Given the description of an element on the screen output the (x, y) to click on. 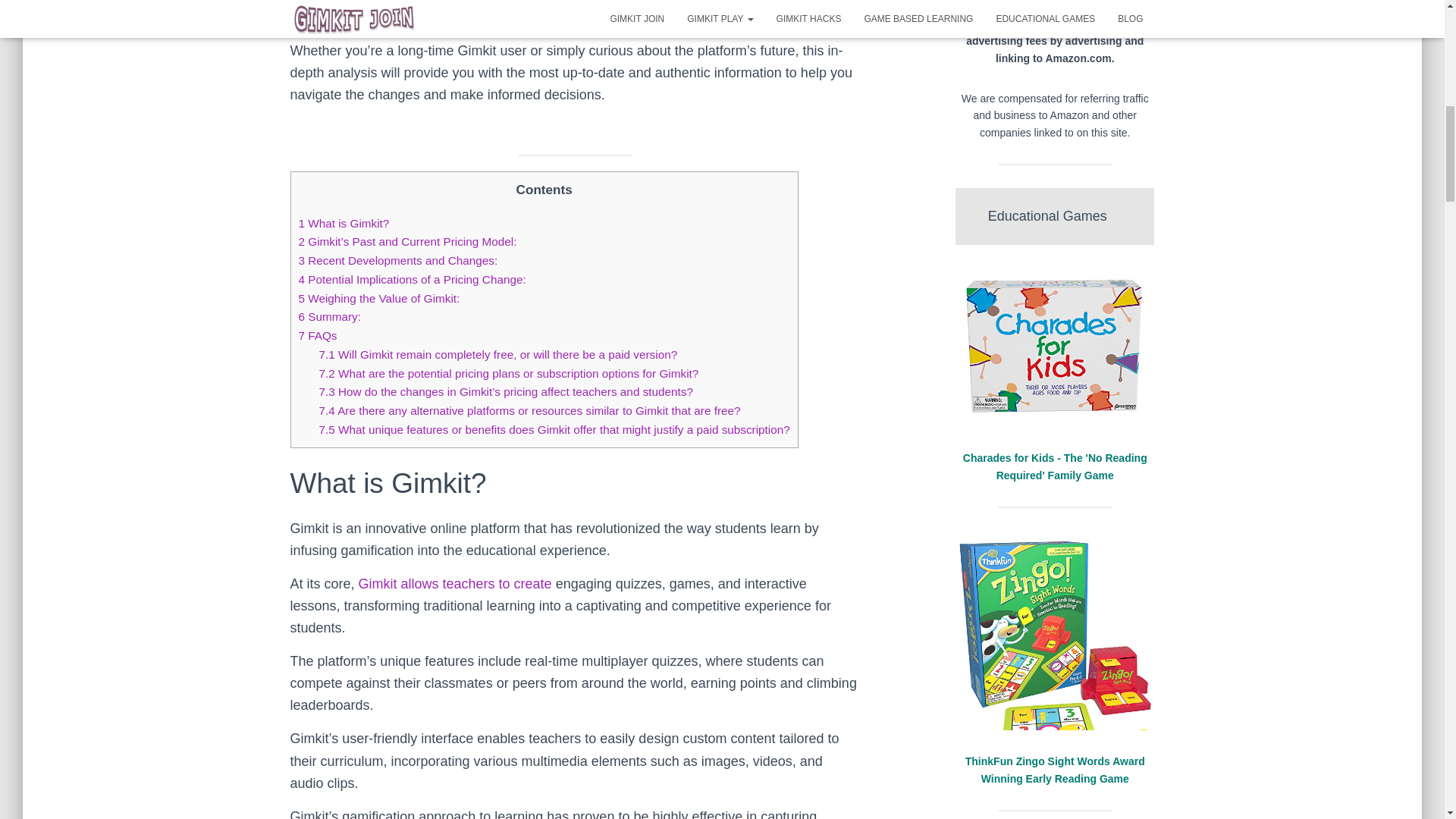
1 What is Gimkit? (344, 223)
Gimkit allows teachers to create (454, 583)
3 Recent Developments and Changes: (397, 259)
6 Summary: (329, 316)
7 FAQs (317, 335)
5 Weighing the Value of Gimkit: (379, 297)
4 Potential Implications of a Pricing Change: (411, 278)
